Given the description of an element on the screen output the (x, y) to click on. 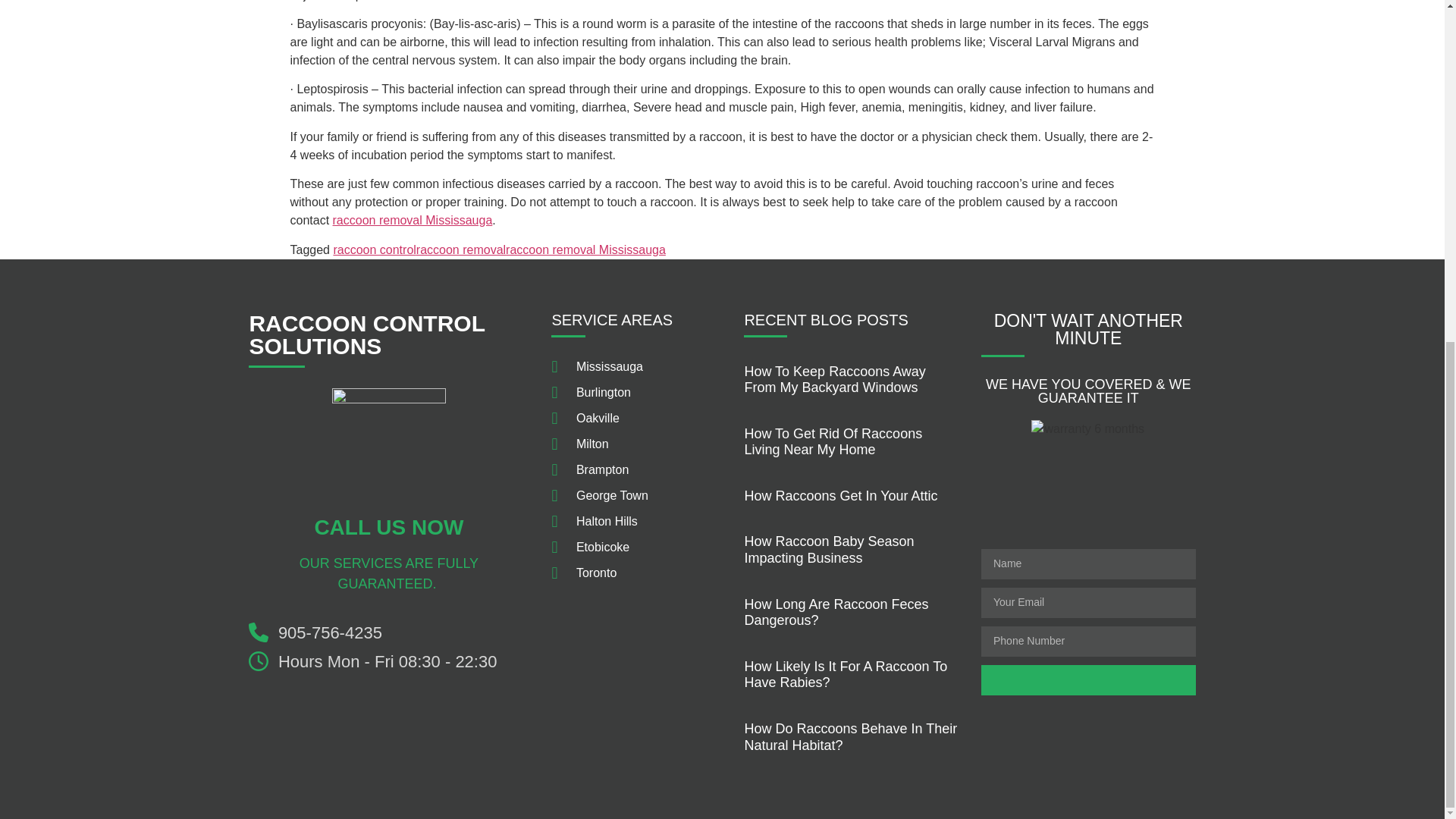
How Likely Is It For A Raccoon To Have Rabies? (845, 675)
How To Keep Raccoons Away From My Backyard Windows (834, 379)
RACCOON CONTROL SOLUTIONS (366, 334)
raccoon removal Mississauga (585, 249)
How To Get Rid Of Raccoons Living Near My Home (832, 441)
raccoon removal (460, 249)
raccoon removal Mississauga (413, 219)
How Do Raccoons Behave In Their Natural Habitat? (850, 736)
905-756-4235 (388, 632)
How Long Are Raccoon Feces Dangerous? (836, 612)
